Given the description of an element on the screen output the (x, y) to click on. 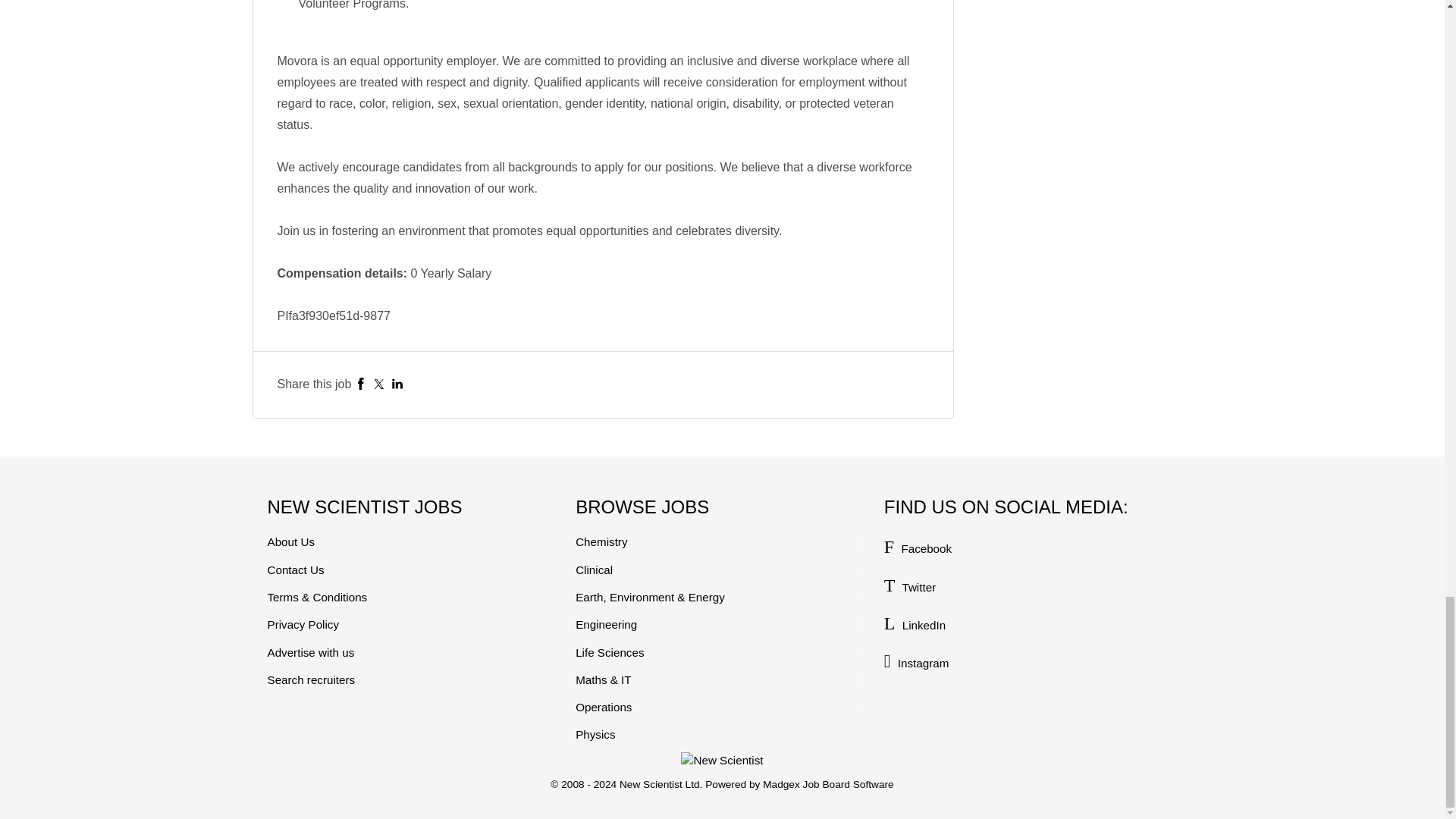
Twitter (378, 383)
Facebook (360, 383)
LinkedIn (397, 383)
